Given the description of an element on the screen output the (x, y) to click on. 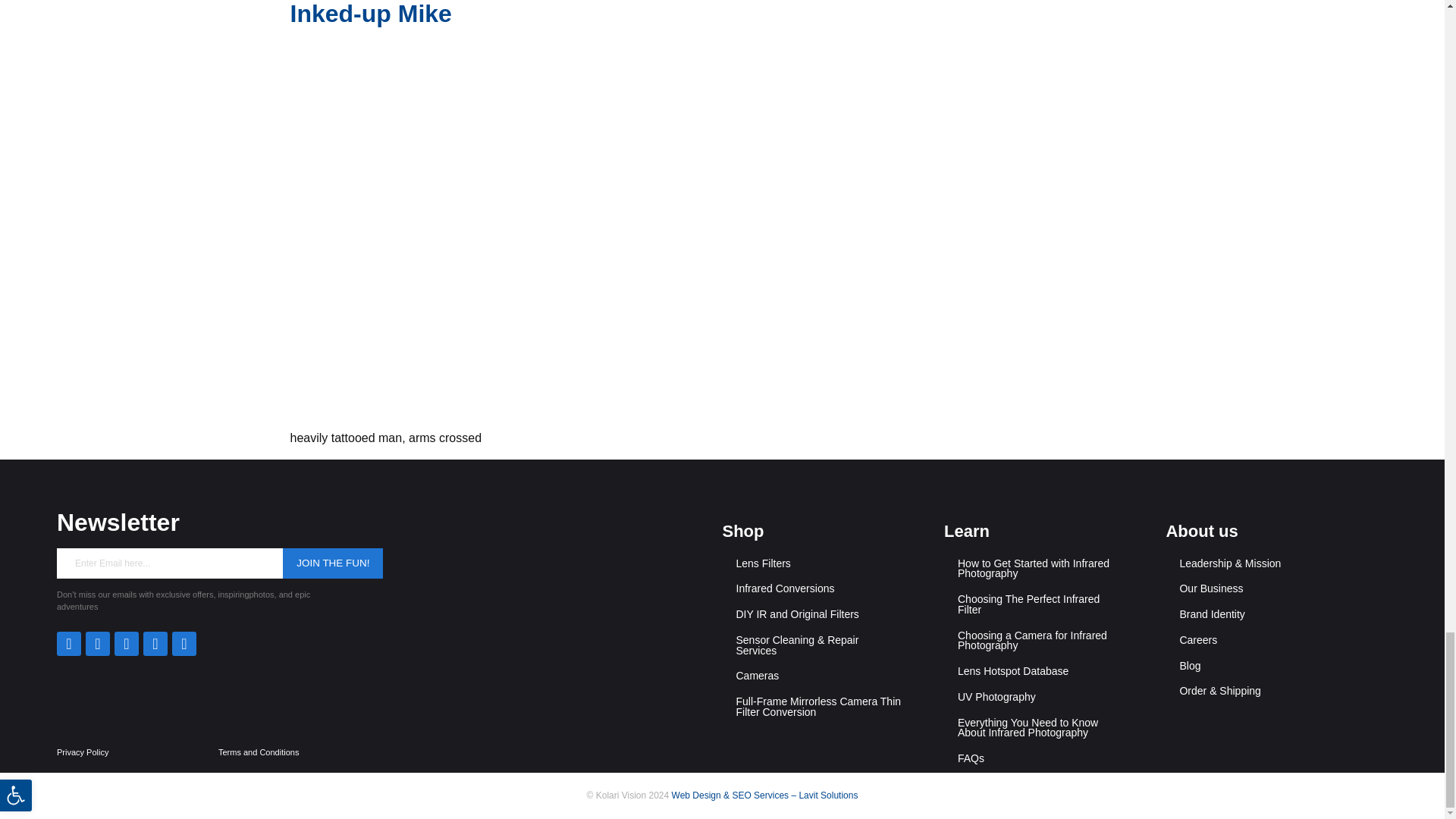
Inked-up Mike (370, 13)
